Given the description of an element on the screen output the (x, y) to click on. 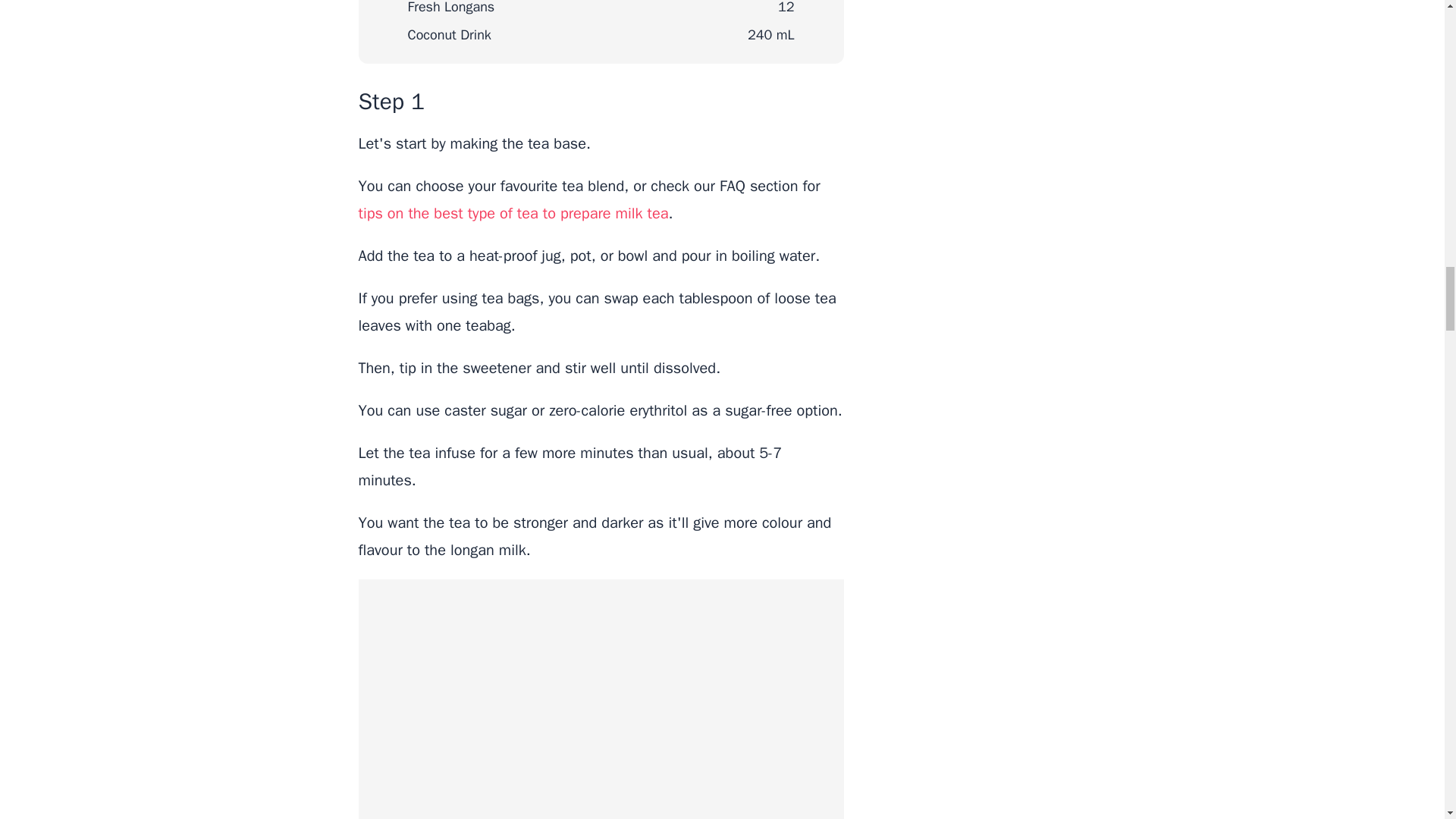
tips on the best type of tea to prepare milk tea (513, 212)
